Given the description of an element on the screen output the (x, y) to click on. 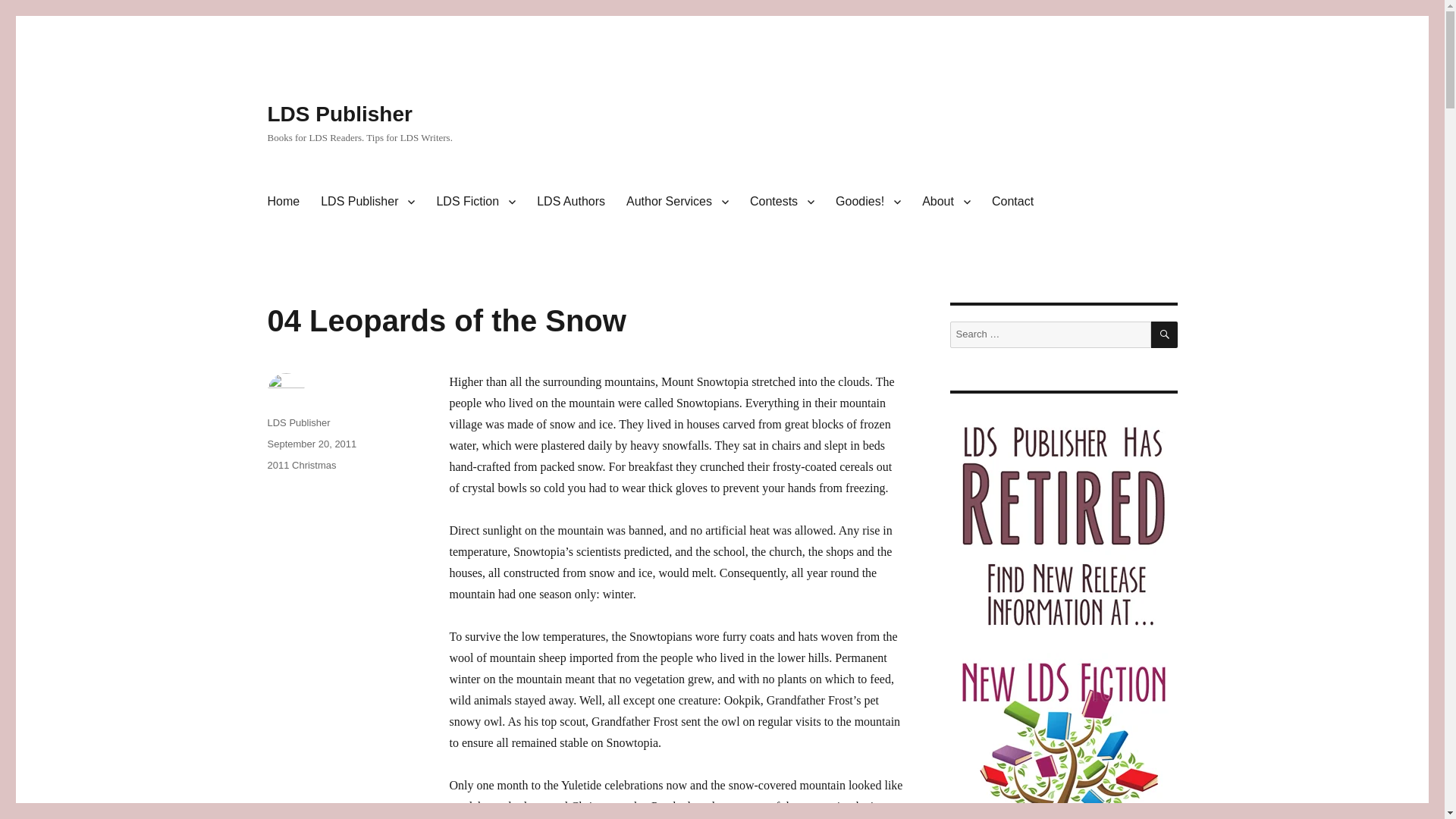
LDS Publisher (339, 114)
LDS Fiction (475, 201)
LDS Publisher (367, 201)
Home (283, 201)
